Given the description of an element on the screen output the (x, y) to click on. 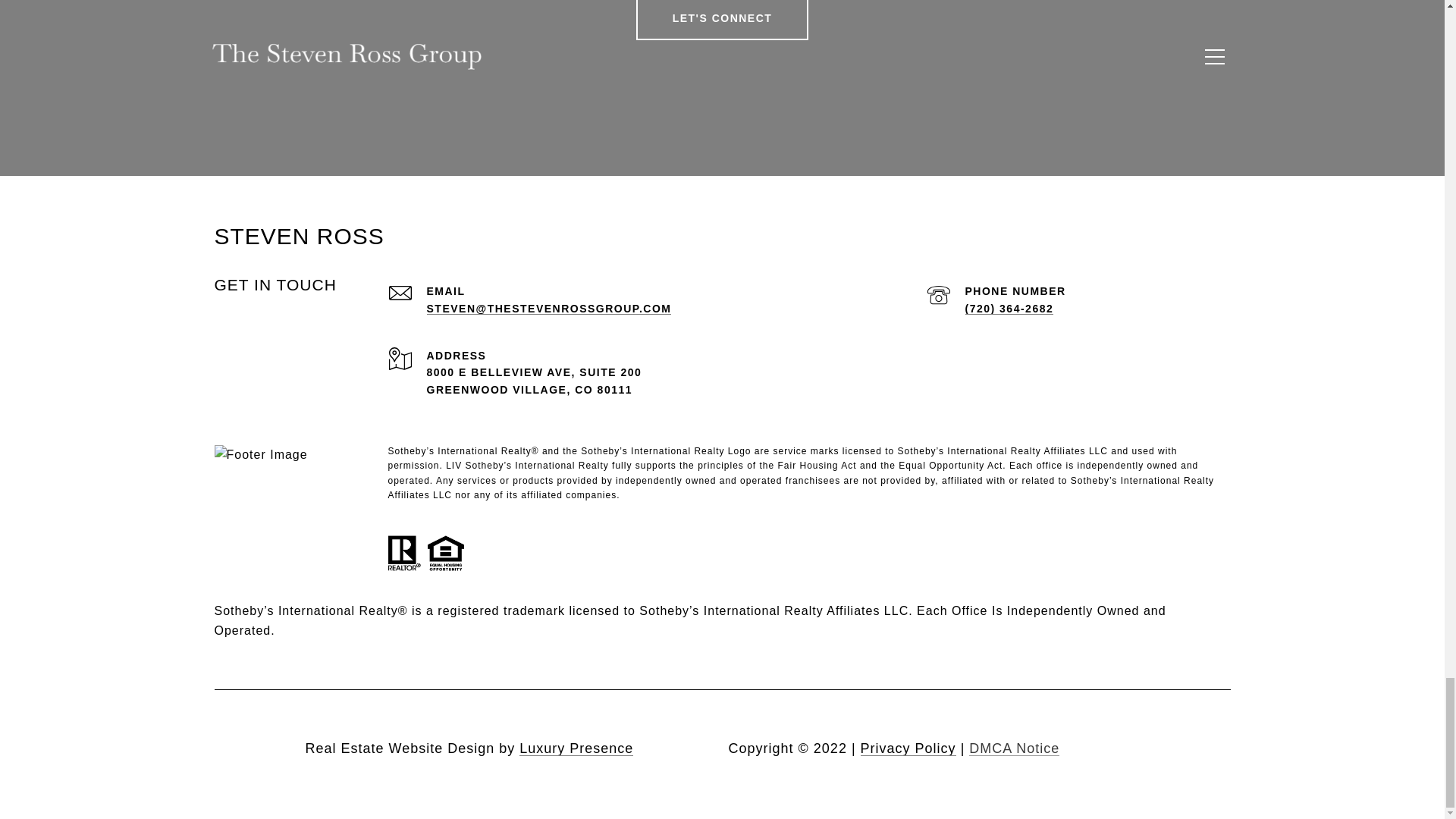
LET'S CONNECT (722, 20)
Luxury Presence (576, 748)
Privacy Policy (908, 748)
